Given the description of an element on the screen output the (x, y) to click on. 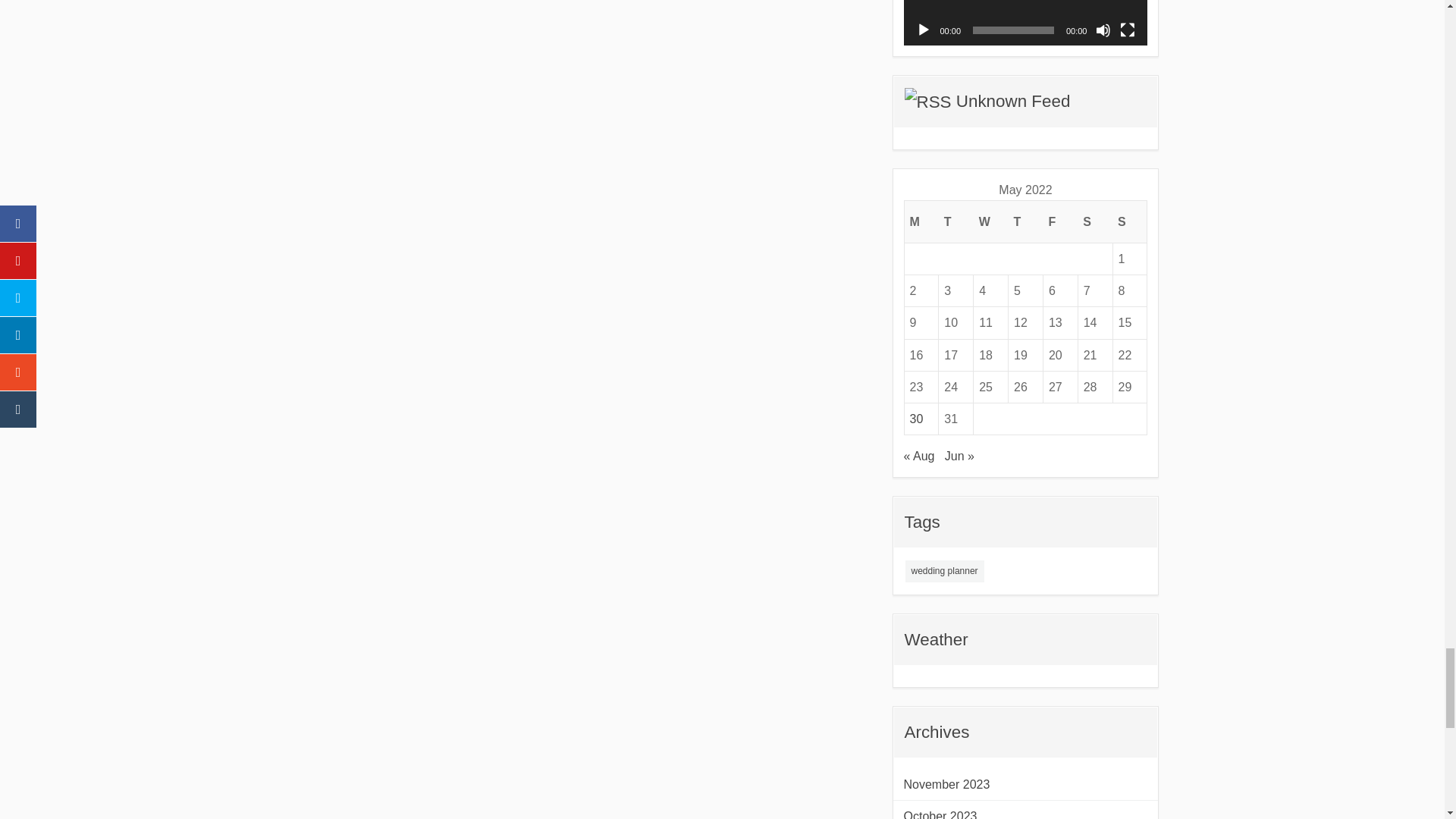
Monday (921, 220)
Play (923, 29)
Mute (1103, 29)
Fullscreen (1127, 29)
Tuesday (956, 220)
